Given the description of an element on the screen output the (x, y) to click on. 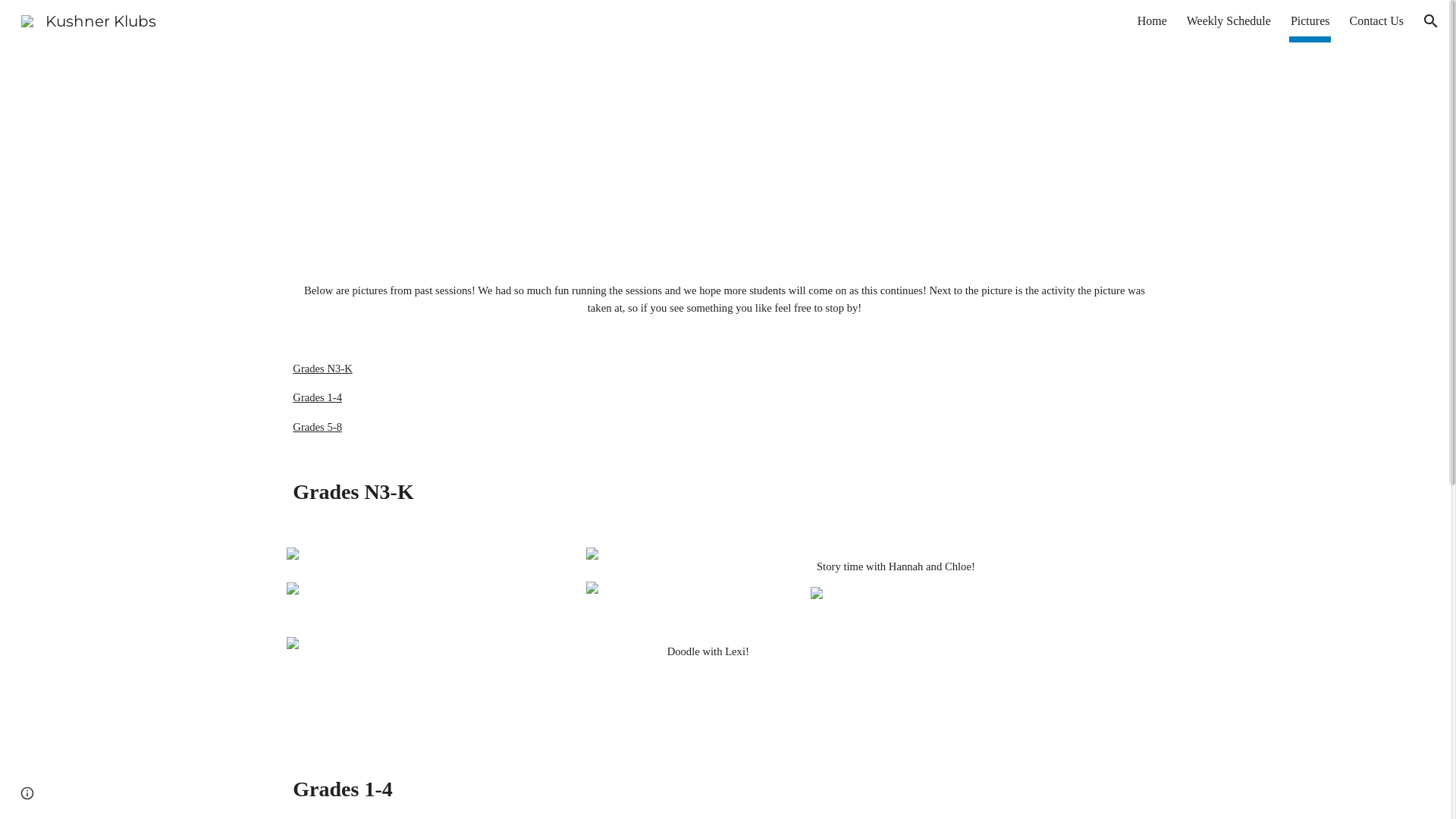
Grades 1-4 Element type: text (317, 397)
Contact Us Element type: text (1376, 20)
Grades N3-K Element type: text (322, 368)
Grades 5-8 Element type: text (317, 426)
Kushner Klubs Element type: text (88, 19)
Weekly Schedule Element type: text (1228, 20)
Home Element type: text (1152, 20)
Pictures Element type: text (1310, 20)
